Given the description of an element on the screen output the (x, y) to click on. 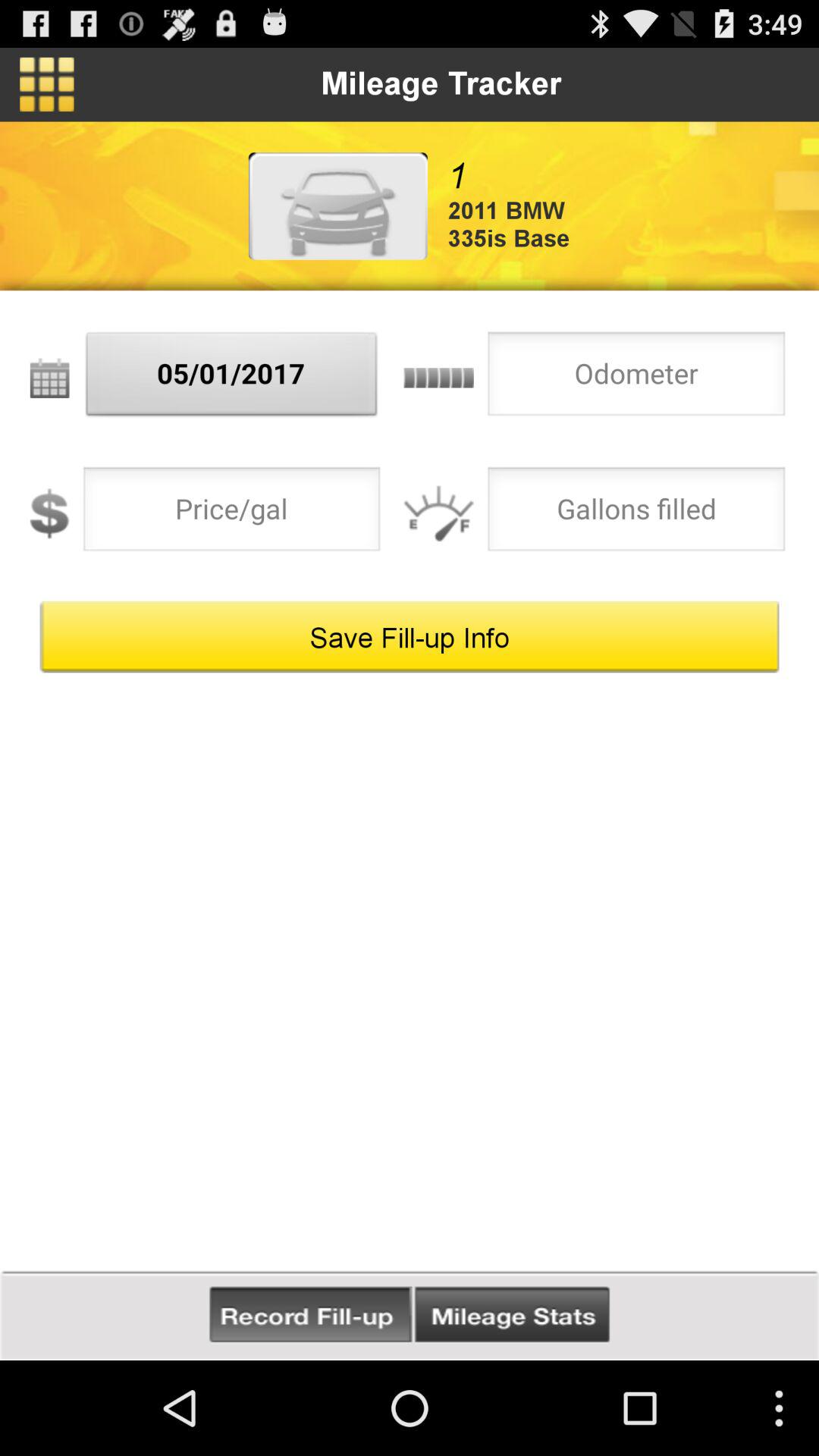
record fill-up option (310, 1315)
